Given the description of an element on the screen output the (x, y) to click on. 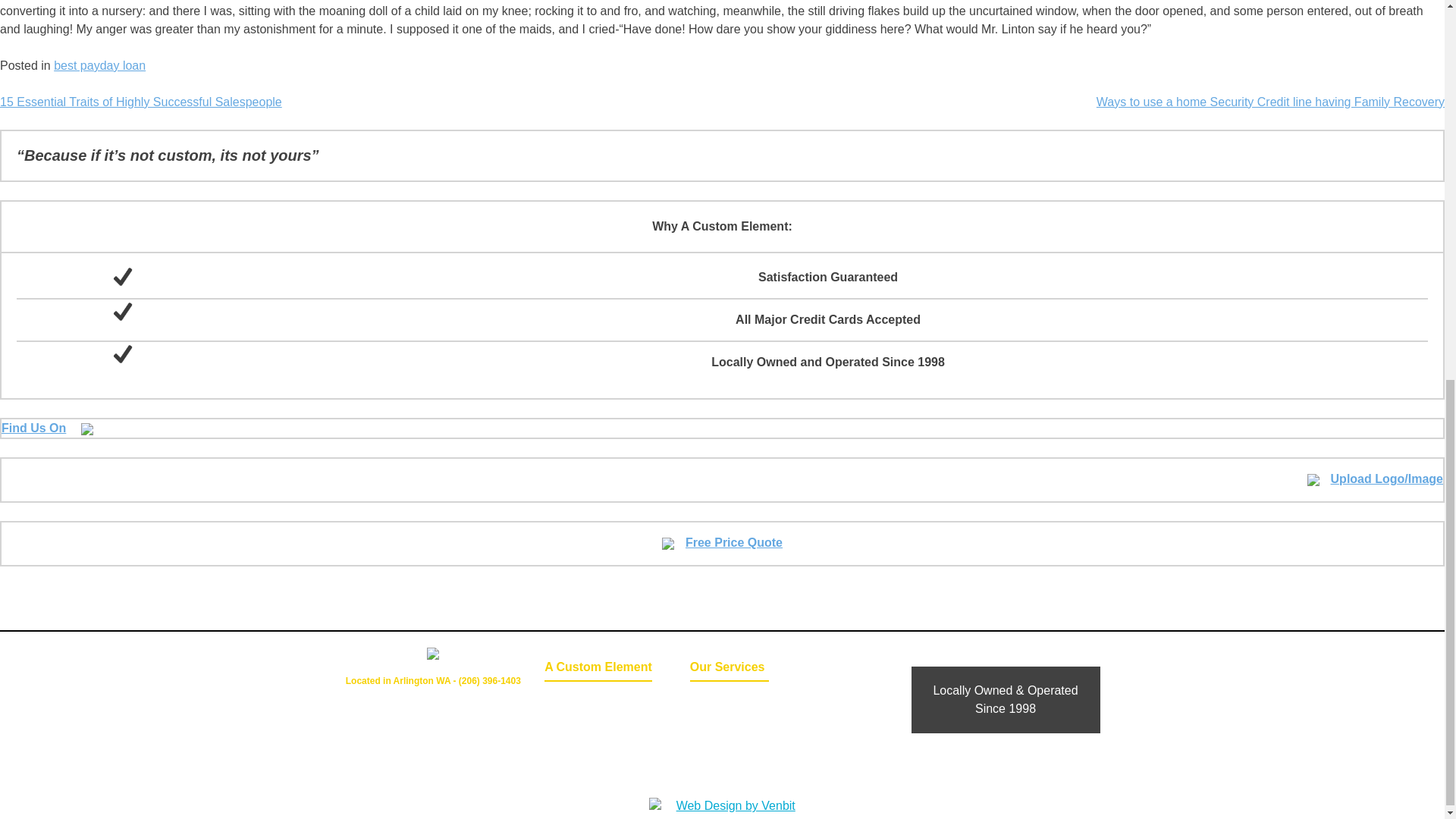
Gallery (729, 699)
Contact Us (577, 721)
Free Price Quote (722, 542)
Web Design by Venbit (729, 805)
About Us (577, 742)
Textile Truffle (729, 762)
Find Us On (47, 427)
FAQ (729, 742)
best payday loan (99, 65)
Services (729, 721)
15 Essential Traits of Highly Successful Salespeople (141, 101)
Home (577, 699)
